Given the description of an element on the screen output the (x, y) to click on. 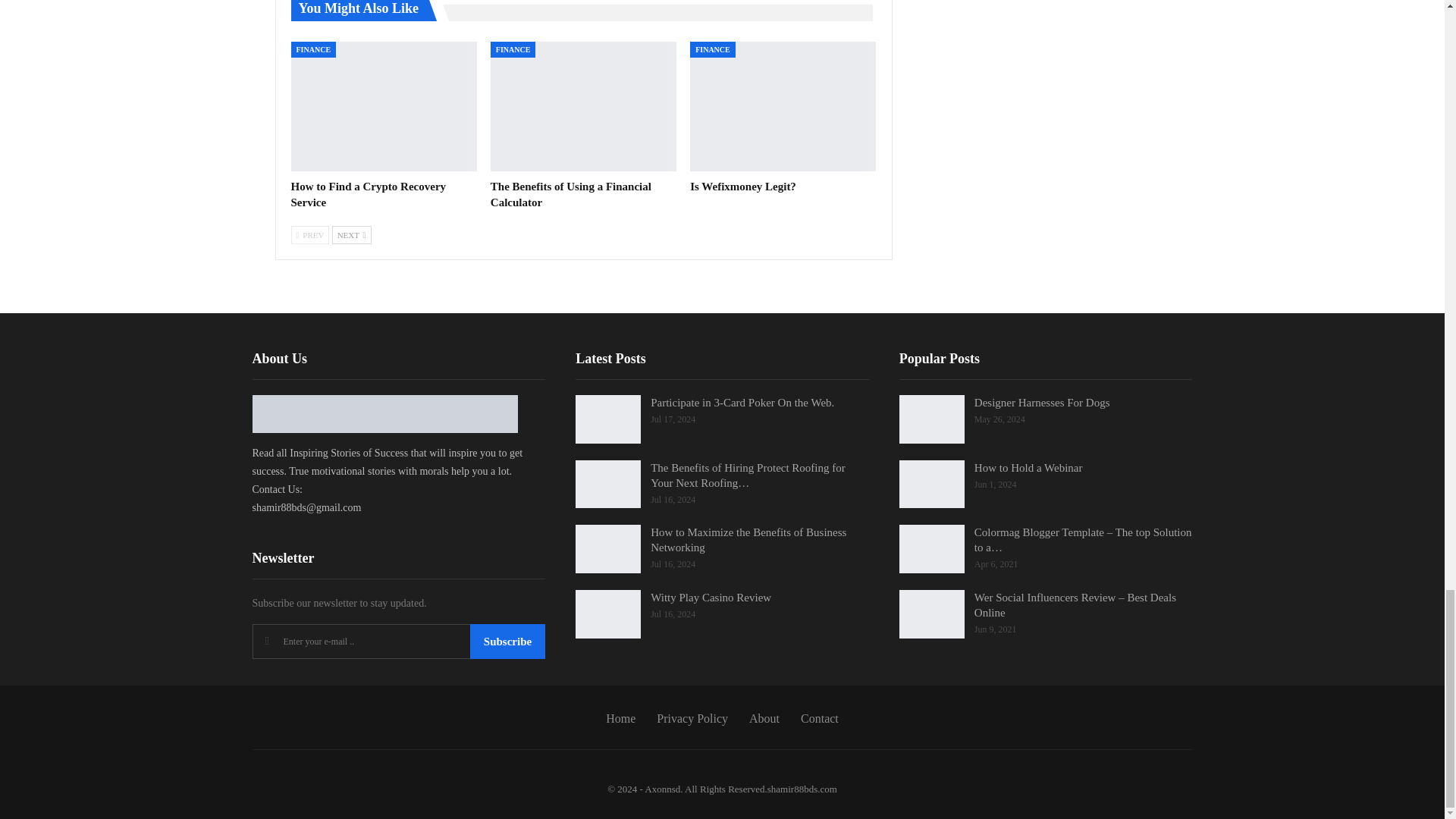
The Benefits of Using a Financial Calculator (570, 194)
Is Wefixmoney Legit? (783, 106)
The Benefits of Using a Financial Calculator (583, 106)
How to Find a Crypto Recovery Service (368, 194)
How to Find a Crypto Recovery Service (384, 106)
